Given the description of an element on the screen output the (x, y) to click on. 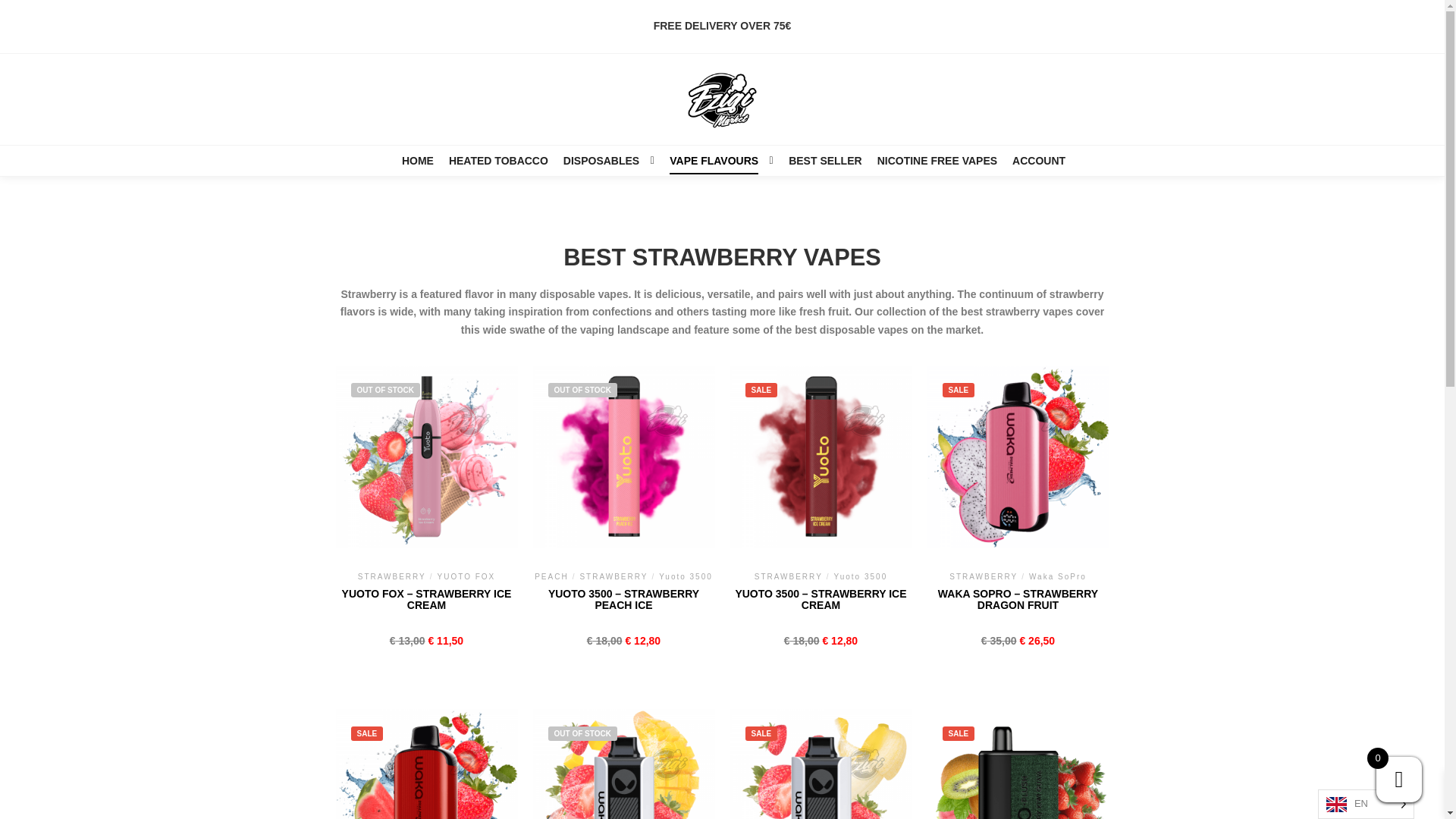
BEST SELLER (824, 160)
VAPE FLAVOURS (711, 160)
HEATED TOBACCO (498, 160)
NICOTINE FREE VAPES (936, 160)
DISPOSABLES (599, 160)
ACCOUNT (1038, 160)
HOME (417, 160)
